Given the description of an element on the screen output the (x, y) to click on. 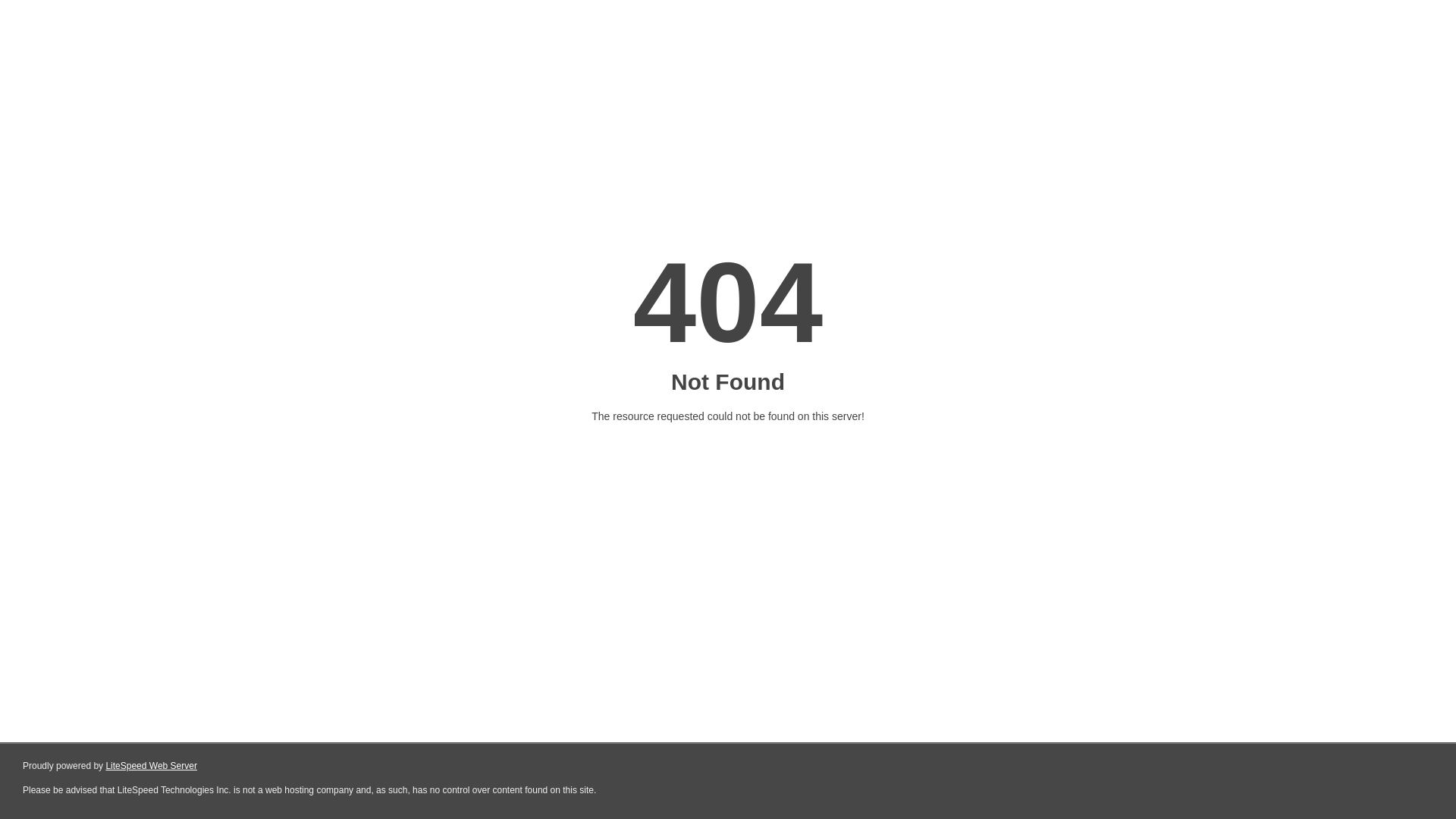
LiteSpeed Web Server Element type: text (151, 765)
